Given the description of an element on the screen output the (x, y) to click on. 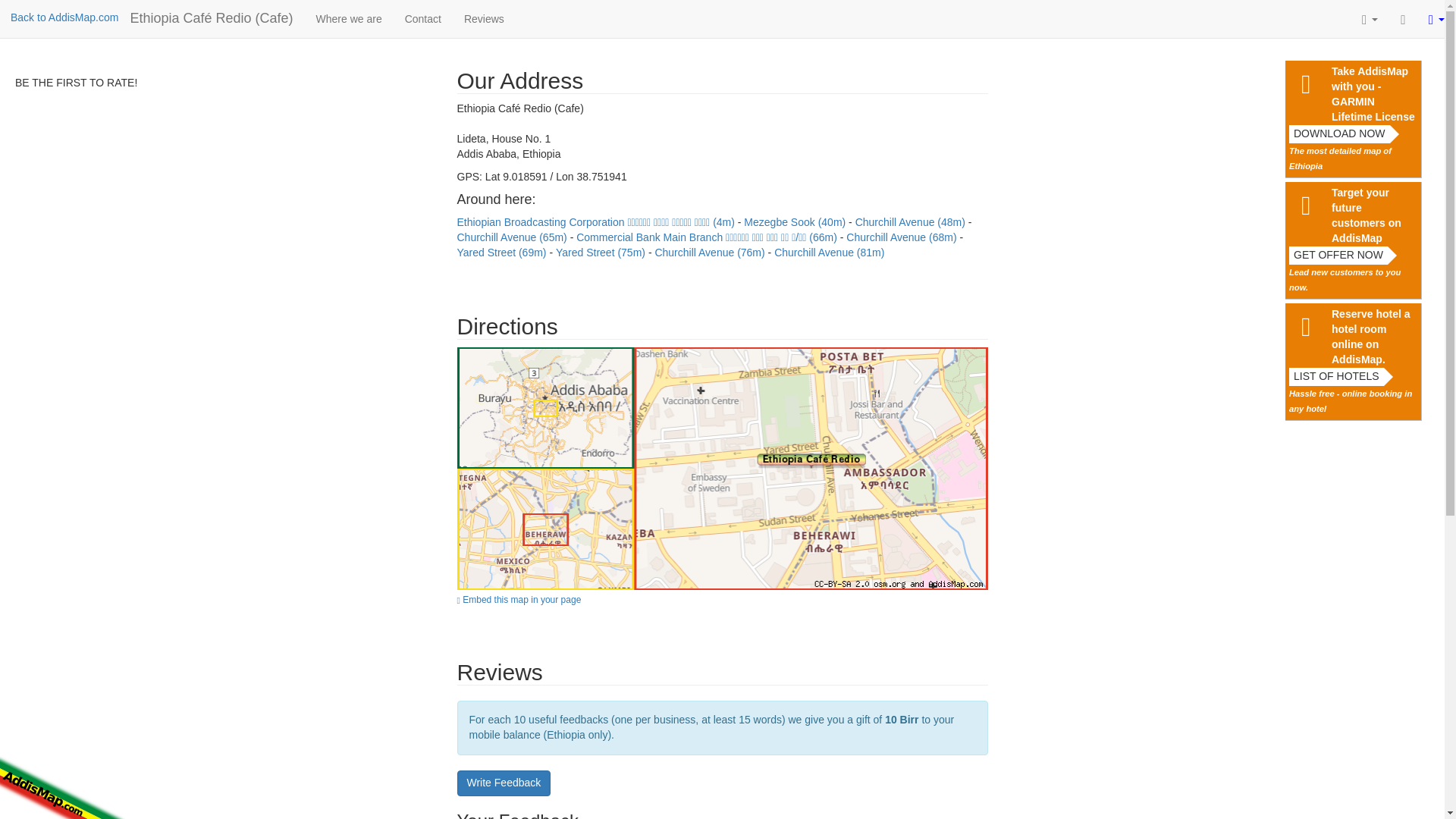
Reviews (483, 18)
LIST OF HOTELS (1336, 376)
Where we are (348, 18)
Embed this map in your page (722, 597)
DOWNLOAD NOW (1339, 134)
Take AddisMap with you - GARMIN Lifetime License (1374, 94)
Contact (422, 18)
GET OFFER NOW (1337, 255)
Back to AddisMap.com (63, 17)
Reserve hotel a hotel room online on AddisMap. (1374, 337)
